Given the description of an element on the screen output the (x, y) to click on. 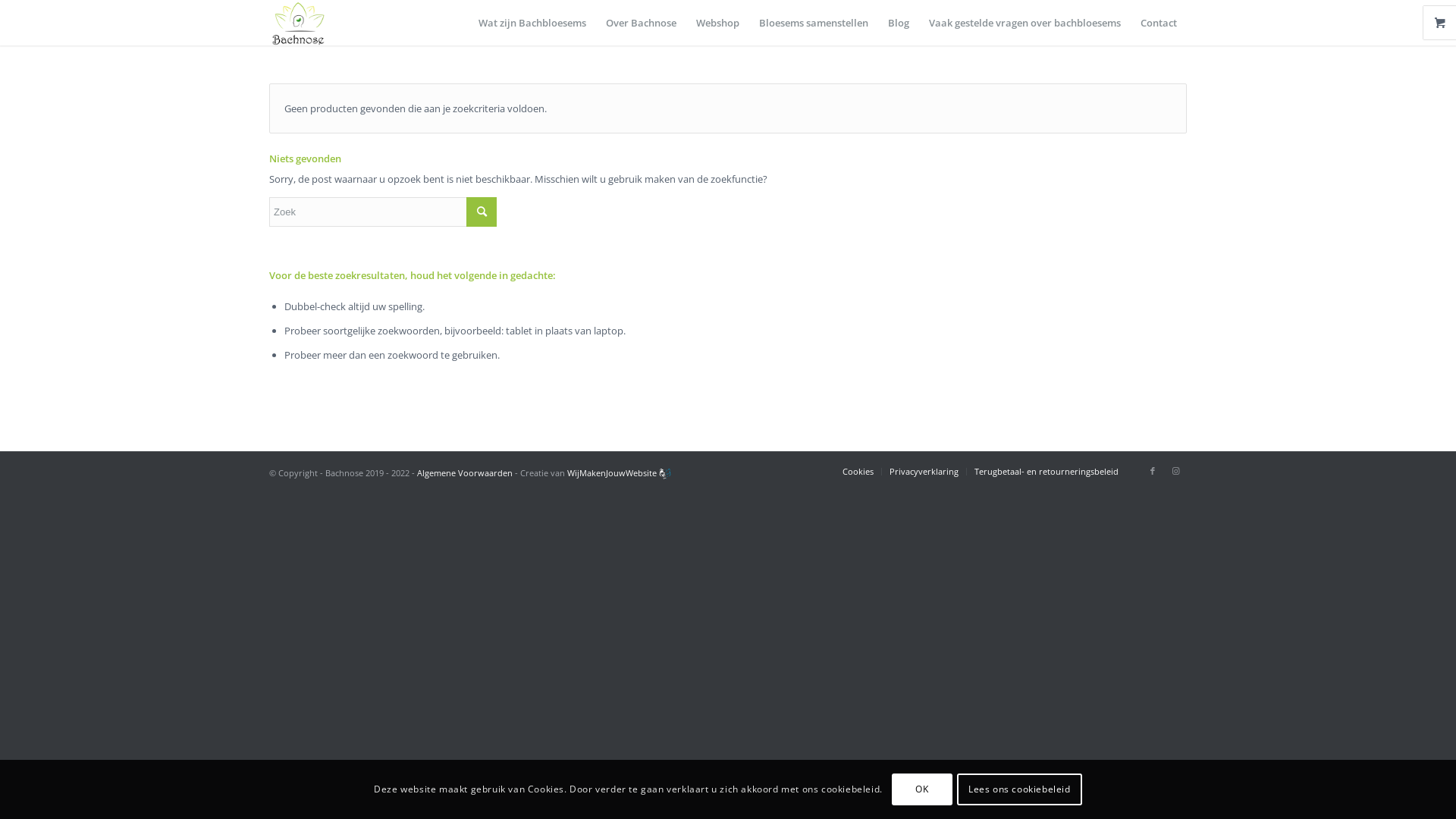
Privacyverklaring Element type: text (923, 470)
WijMakenJouwWebsite Element type: text (611, 472)
Over Bachnose Element type: text (641, 22)
Bloesems samenstellen Element type: text (813, 22)
OK Element type: text (921, 789)
Lees ons cookiebeleid Element type: text (1019, 789)
Logo Bachnose Element type: hover (298, 22)
Contact Element type: text (1158, 22)
Terugbetaal- en retourneringsbeleid Element type: text (1046, 470)
Algemene Voorwaarden Element type: text (464, 472)
Instagram Element type: hover (1175, 470)
Blog Element type: text (898, 22)
Vaak gestelde vragen over bachbloesems Element type: text (1024, 22)
Facebook Element type: hover (1152, 470)
Webshop Element type: text (717, 22)
Cookies Element type: text (857, 470)
Wat zijn Bachbloesems Element type: text (532, 22)
